Given the description of an element on the screen output the (x, y) to click on. 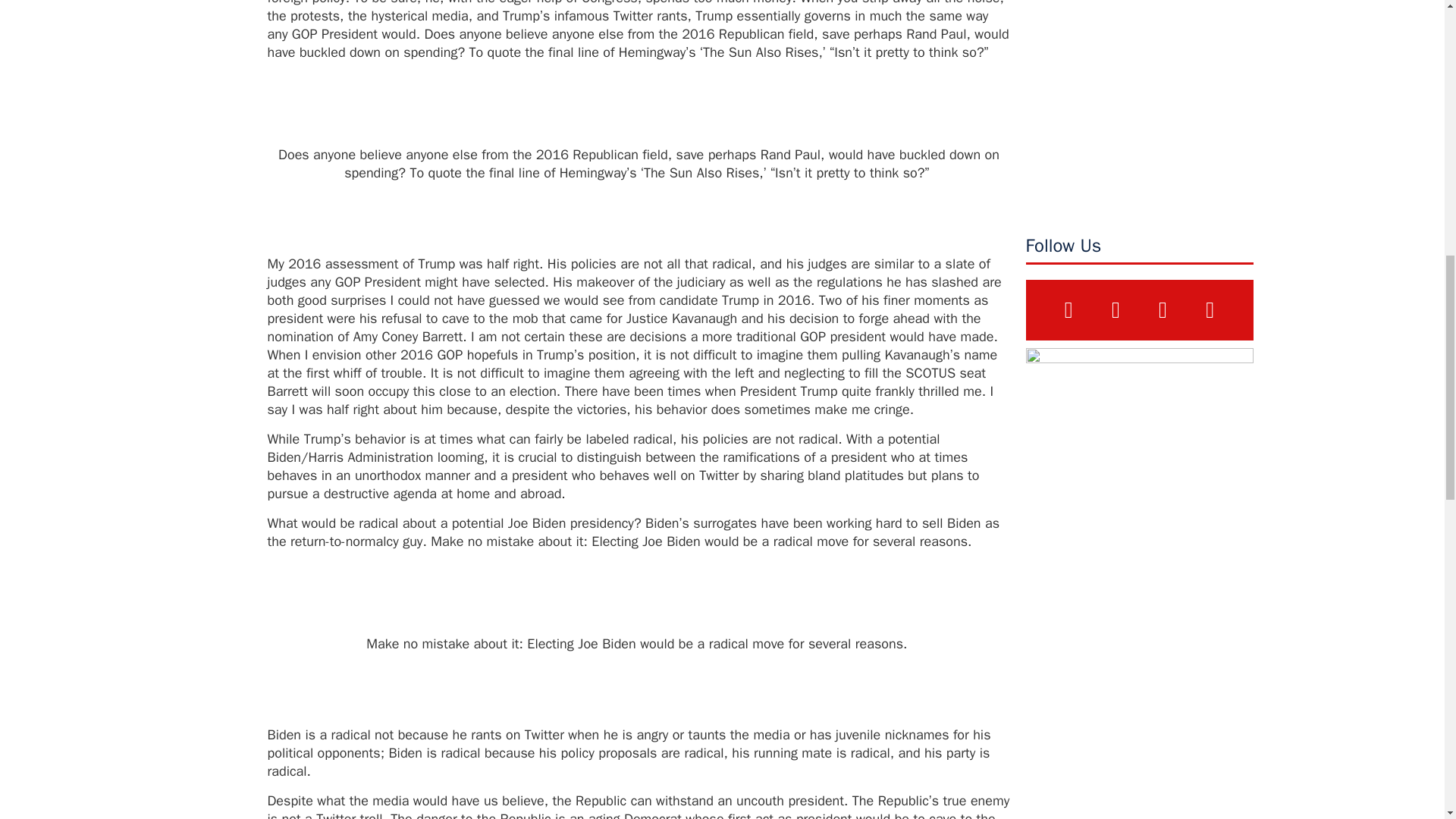
Bill O'Reilly is back! (1138, 104)
